Given the description of an element on the screen output the (x, y) to click on. 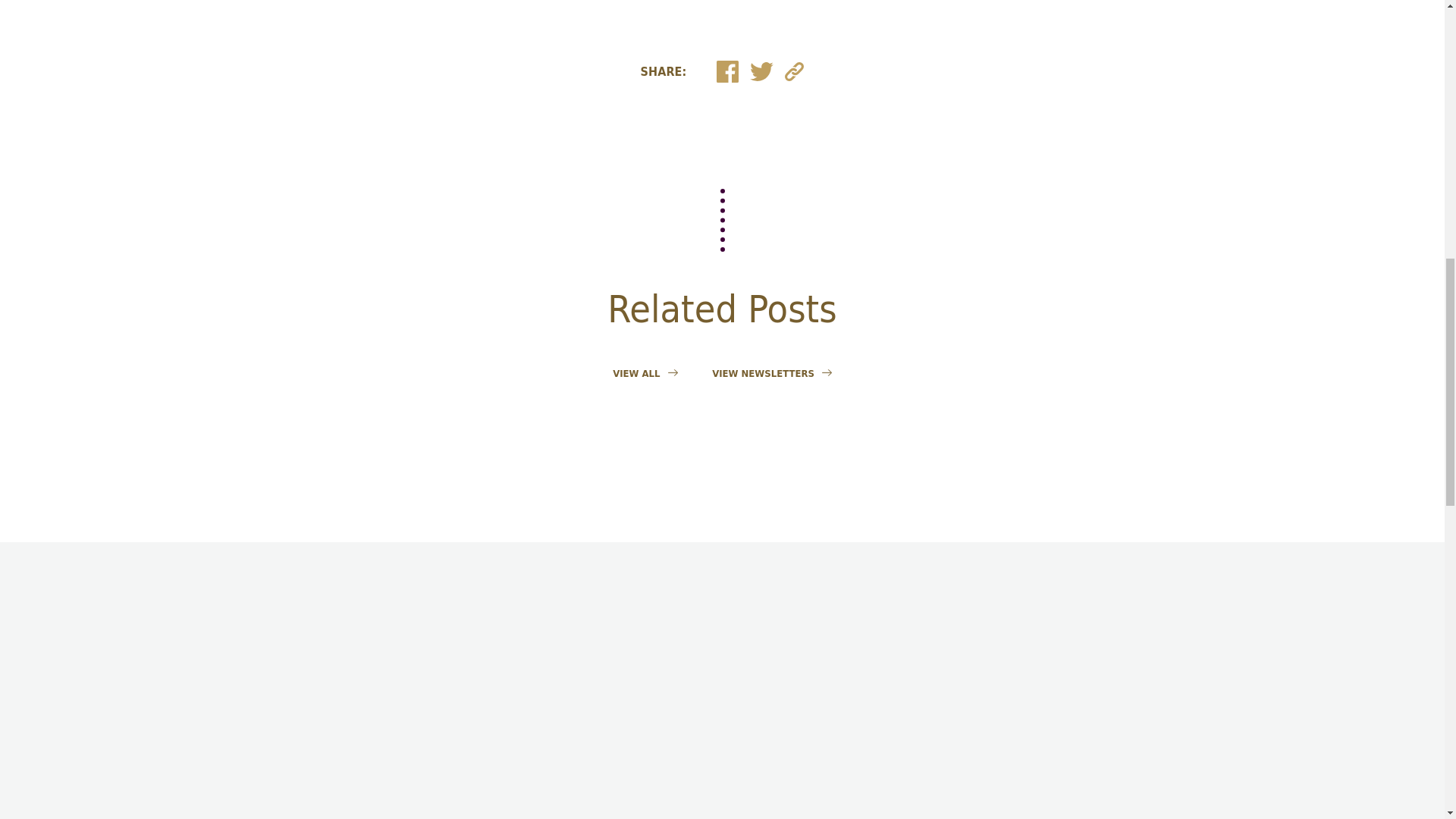
Share on Facebook (727, 71)
Share on Twitter (761, 71)
VIEW NEWSLETTERS (771, 373)
VIEW ALL (644, 373)
Copy link to clipboard (793, 71)
